Given the description of an element on the screen output the (x, y) to click on. 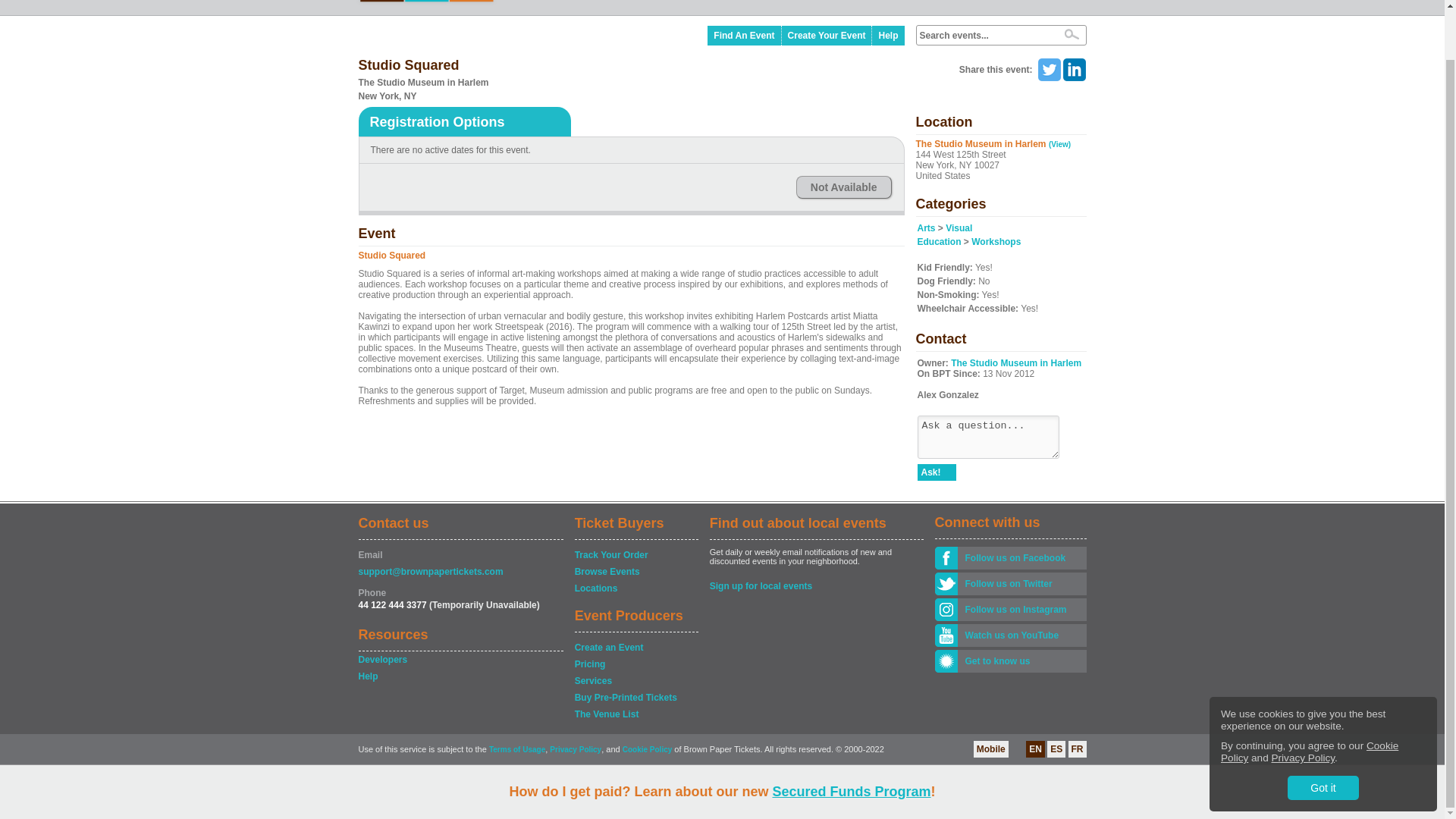
Workshops (995, 241)
Help (460, 676)
Privacy Policy (1303, 704)
Buy Pre-Printed Tickets (636, 697)
Locations (636, 588)
Find An Event (743, 35)
Ask! (936, 472)
Services (636, 680)
Create an Event (636, 647)
Cookie Policy (1309, 698)
Submit to Twitter! (1048, 69)
Search Events (1070, 33)
Got it (1322, 734)
Not Available (843, 187)
Secured Funds Program (850, 738)
